Given the description of an element on the screen output the (x, y) to click on. 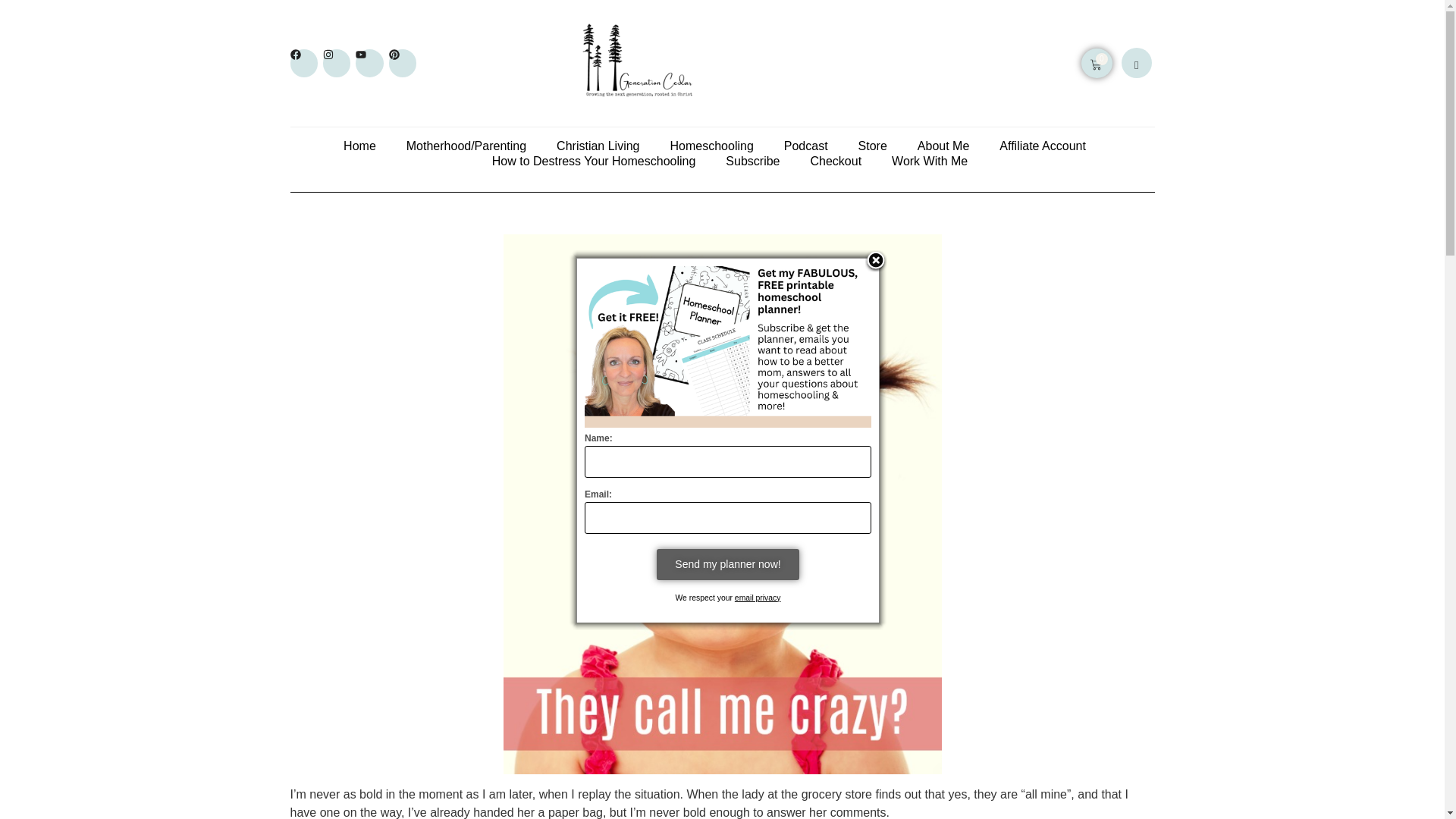
About Me (943, 145)
Podcast (806, 145)
Homeschooling (711, 145)
How to Destress Your Homeschooling (593, 160)
Home (359, 145)
Checkout (835, 160)
0 (1096, 62)
Work With Me (929, 160)
Subscribe (751, 160)
Privacy Policy (757, 597)
Christian Living (597, 145)
Send my planner now! (726, 563)
Store (872, 145)
Affiliate Account (1042, 145)
